Given the description of an element on the screen output the (x, y) to click on. 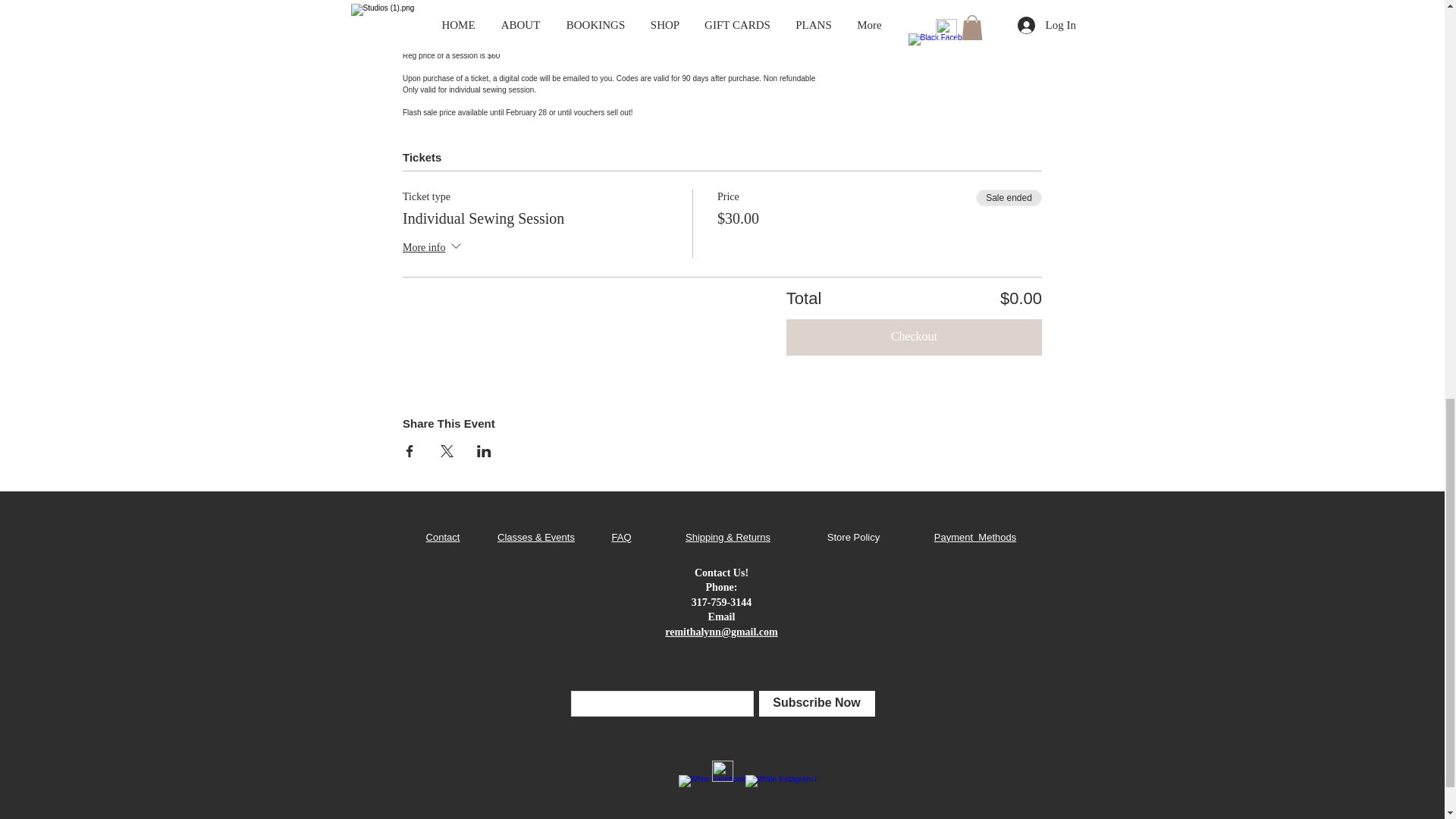
More info (433, 248)
Store Policy (853, 536)
FAQ (620, 536)
Checkout (914, 337)
Subscribe Now (816, 703)
Payment  Methods (975, 536)
Contact (443, 536)
